Given the description of an element on the screen output the (x, y) to click on. 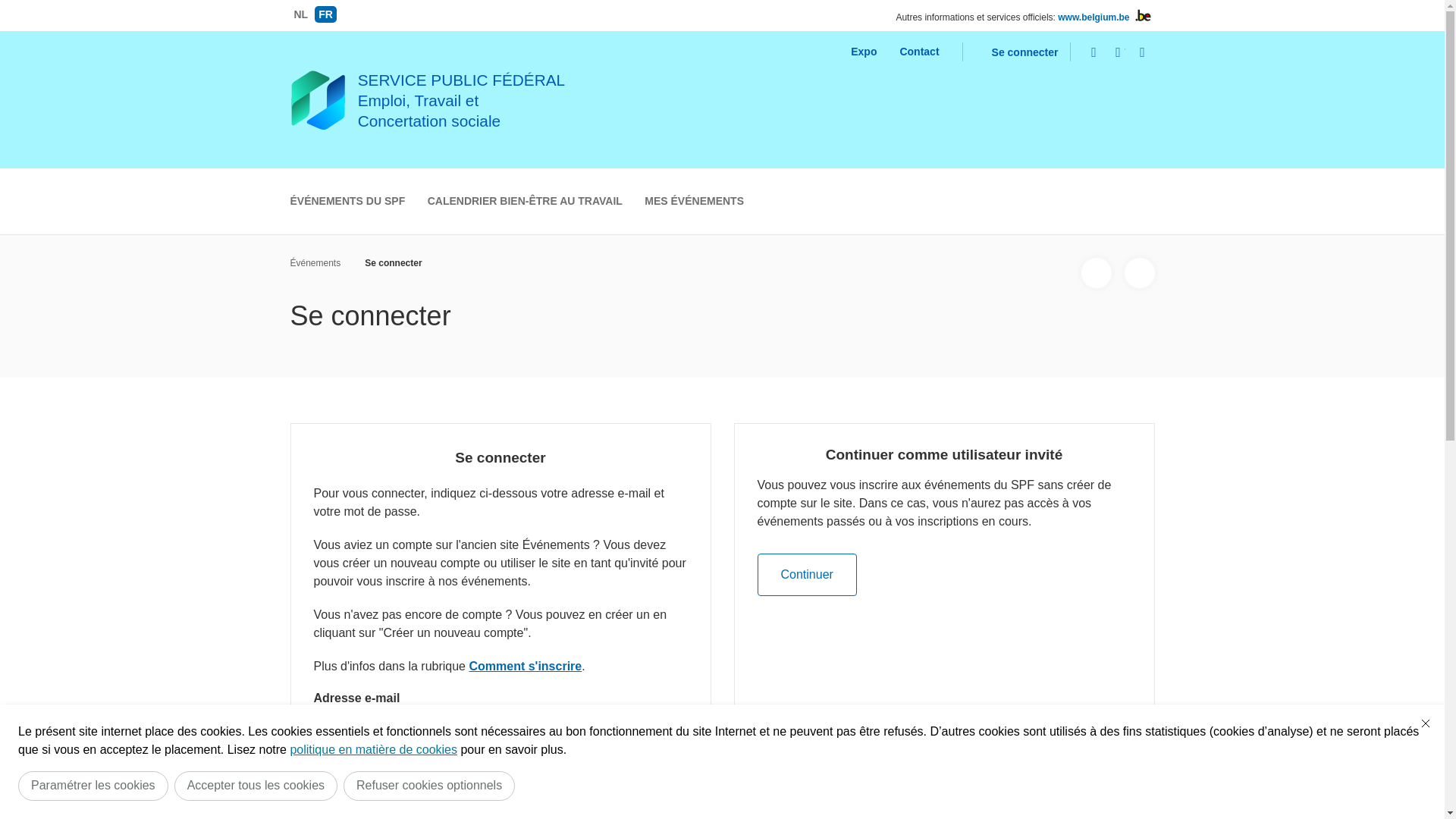
Twitter Element type: text (1118, 52)
Se connecter Element type: text (1016, 52)
Comment s'inscrire Element type: text (524, 665)
Accepter tous les cookies Element type: text (255, 785)
LinkedIn Element type: text (1142, 52)
Facebook Element type: text (1094, 52)
FR Element type: text (325, 14)
Imprimer cette page Element type: text (1138, 272)
Continuer Element type: text (806, 574)
Options de partage Element type: text (1096, 272)
www.belgium.be Element type: text (1093, 17)
Contact Element type: text (918, 51)
Refuser cookies optionnels Element type: text (428, 785)
NL Element type: text (300, 14)
Fermer Element type: hover (1425, 723)
Adresse e-mail Element type: hover (500, 729)
ALLER AU CONTENU PRINCIPAL Element type: text (721, 7)
Expo Element type: text (863, 51)
